Given the description of an element on the screen output the (x, y) to click on. 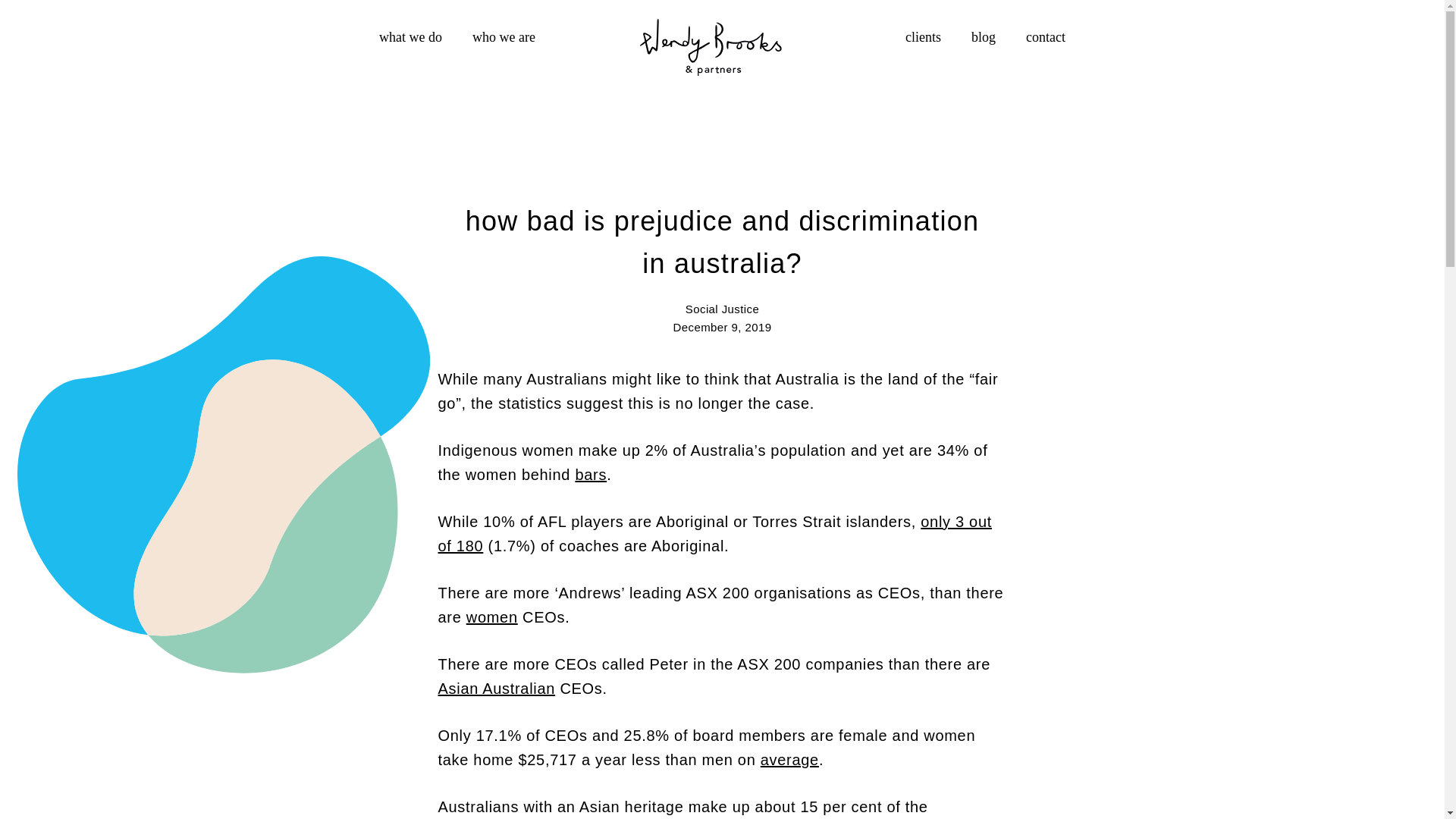
clients (922, 38)
contact (1045, 38)
only 3 out of 180 (715, 533)
who we are (503, 38)
what we do (410, 38)
women (491, 617)
Asian Australian (497, 688)
average (789, 759)
bars (591, 474)
blog (983, 38)
